Given the description of an element on the screen output the (x, y) to click on. 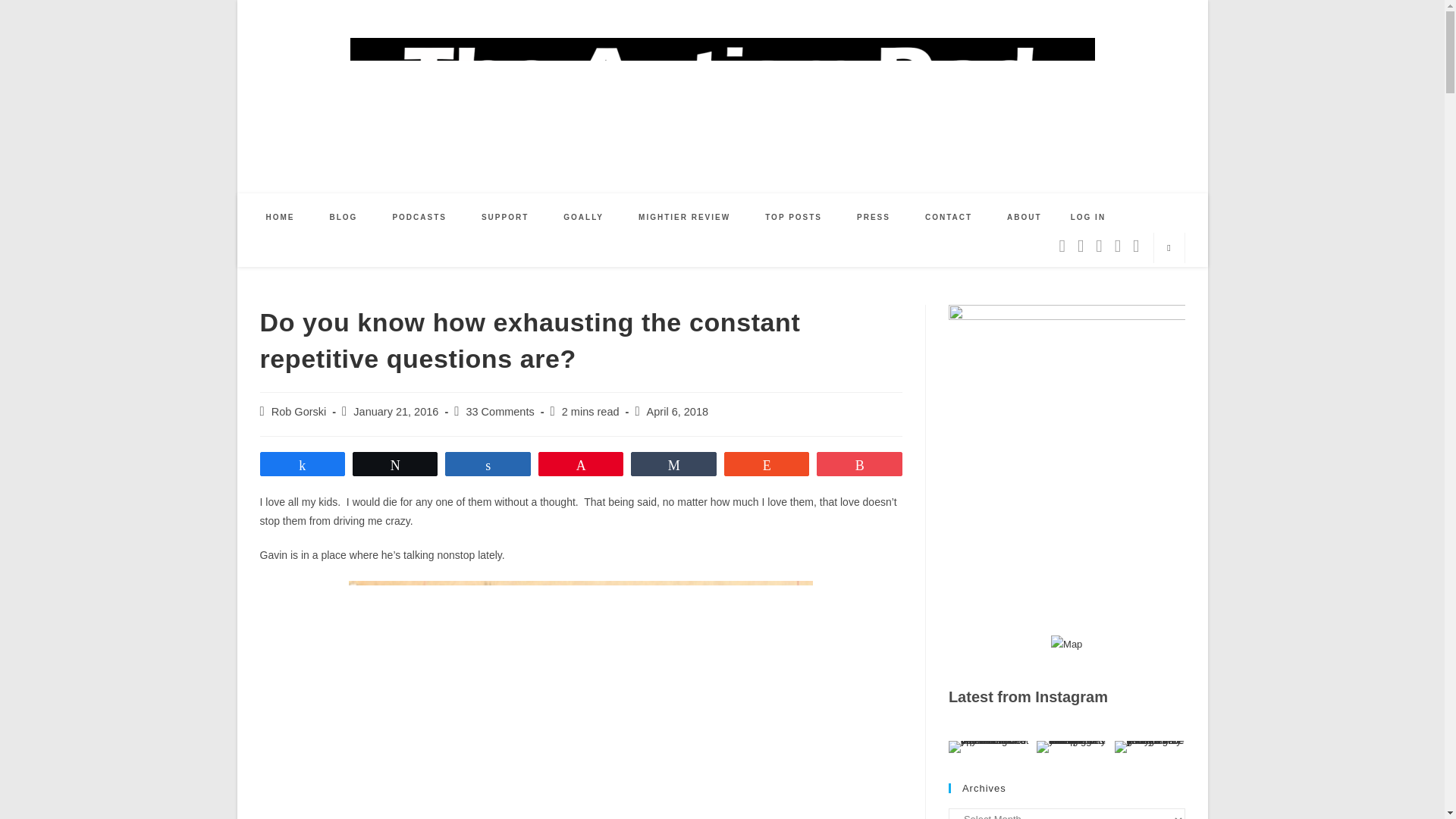
SUPPORT (505, 217)
33 Comments (499, 411)
ABOUT (1024, 217)
PRESS (873, 217)
Rob Gorski (298, 411)
Posts by Rob Gorski (298, 411)
MIGHTIER REVIEW (684, 217)
CONTACT (948, 217)
BLOG (344, 217)
HOME (280, 217)
